Given the description of an element on the screen output the (x, y) to click on. 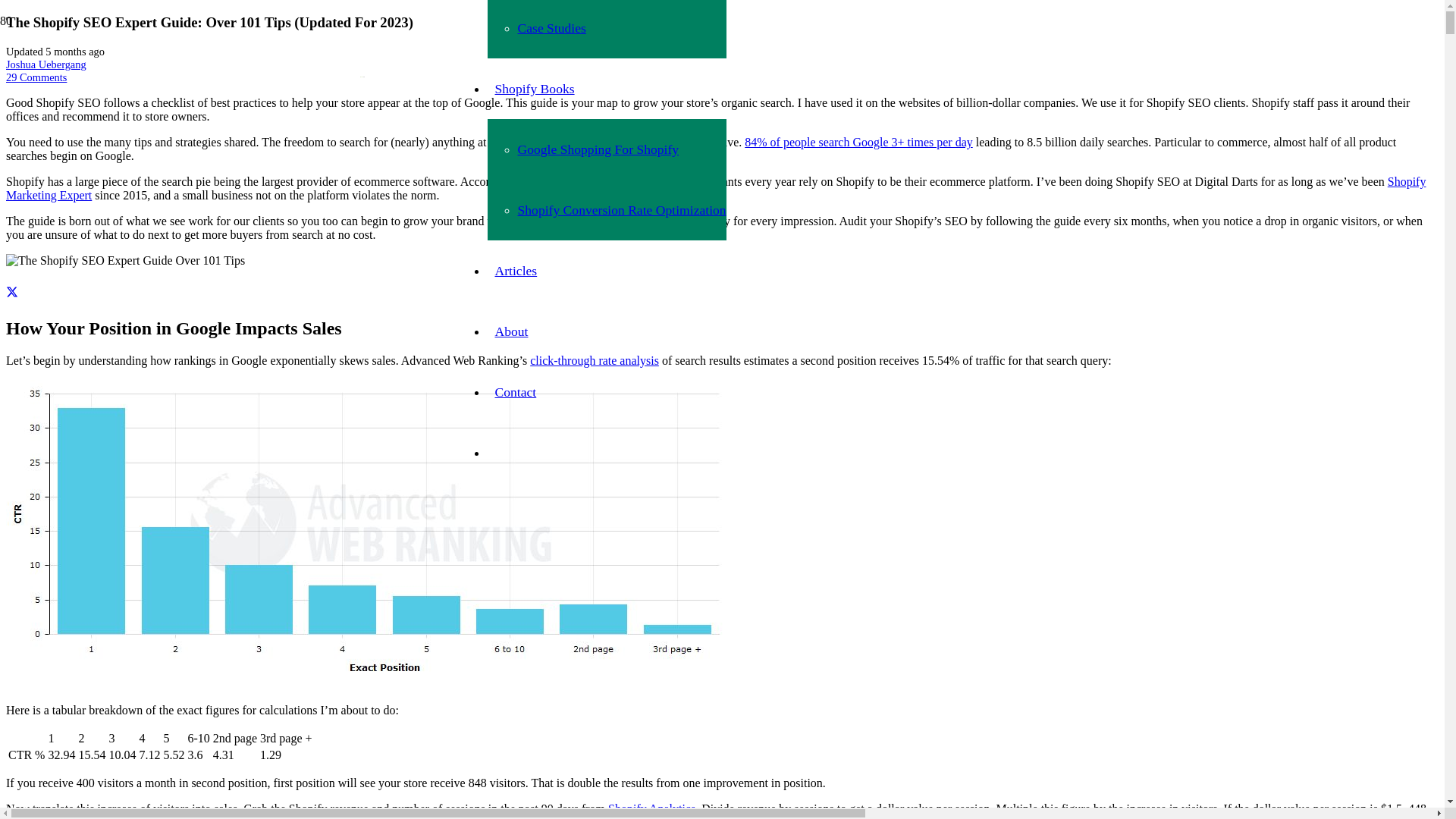
Shopify Conversion Rate Optimization Element type: text (621, 209)
About Element type: text (510, 330)
Shopify Marketing Expert Element type: text (715, 188)
Shopify Analytics Element type: text (651, 808)
Case Studies Element type: text (551, 27)
Joshua Uebergang Element type: text (46, 64)
Tweet this Element type: hover (12, 292)
Contact Element type: text (514, 391)
Articles Element type: text (515, 270)
84% of people search Google 3+ times per day Element type: text (858, 141)
click-through rate analysis Element type: text (594, 360)
Google Shopping For Shopify Element type: text (597, 148)
29 Comments Element type: text (36, 77)
Shopify Books Element type: text (533, 88)
BuiltWith data Element type: text (562, 181)
